Given the description of an element on the screen output the (x, y) to click on. 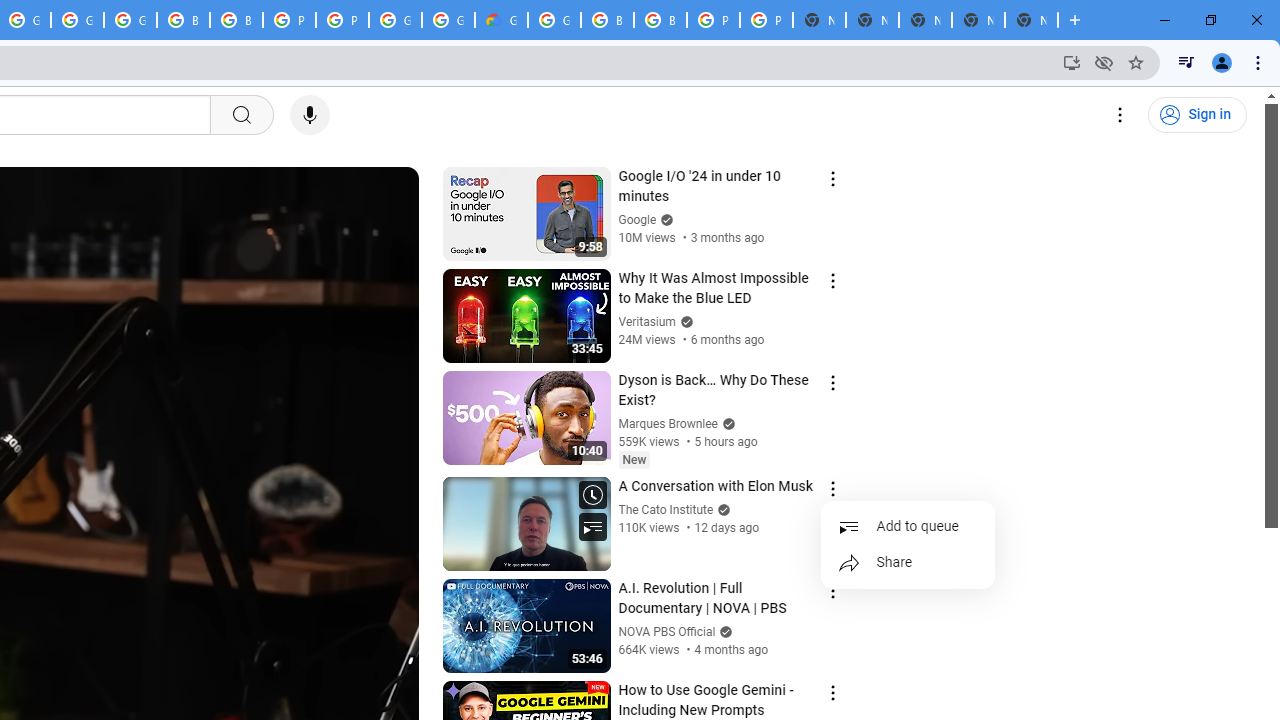
Settings (1119, 115)
Search with your voice (309, 115)
Google Cloud Platform (554, 20)
Browse Chrome as a guest - Computer - Google Chrome Help (183, 20)
Google Cloud Estimate Summary (501, 20)
Browse Chrome as a guest - Computer - Google Chrome Help (660, 20)
Browse Chrome as a guest - Computer - Google Chrome Help (607, 20)
